Given the description of an element on the screen output the (x, y) to click on. 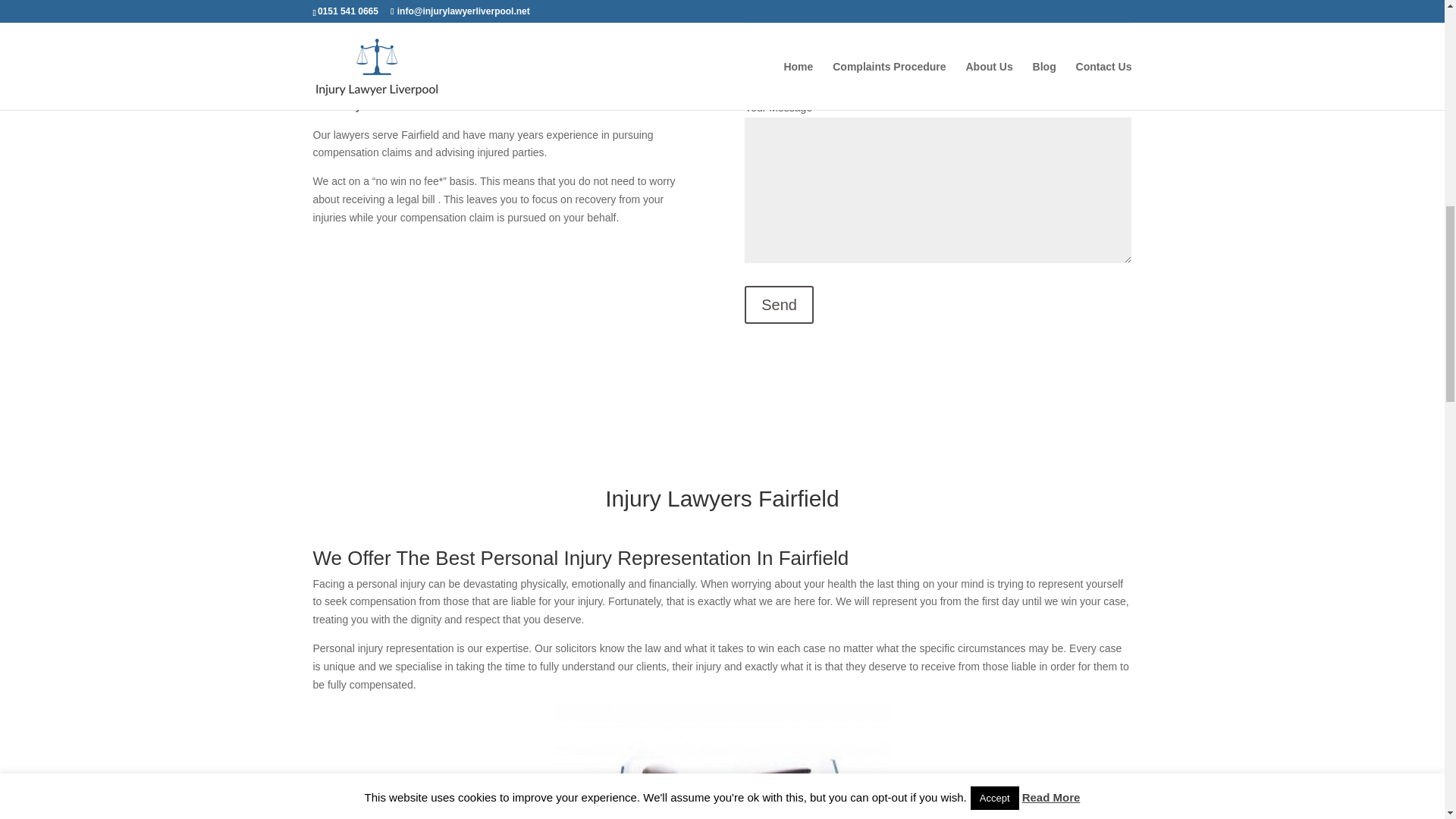
Send (778, 304)
Send (778, 304)
